Given the description of an element on the screen output the (x, y) to click on. 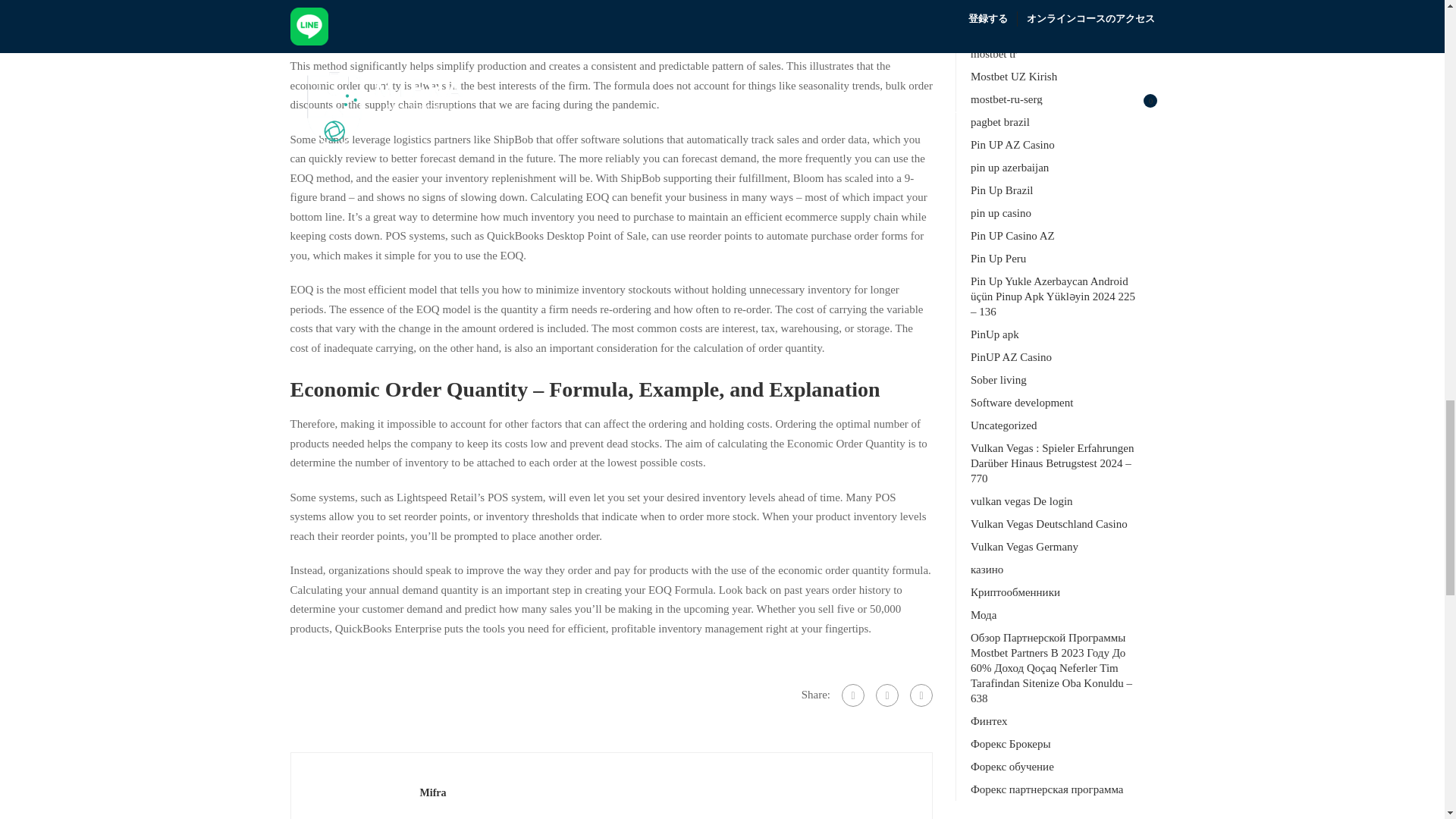
Twitter (887, 694)
Facebook (852, 694)
Mifra (433, 792)
